Given the description of an element on the screen output the (x, y) to click on. 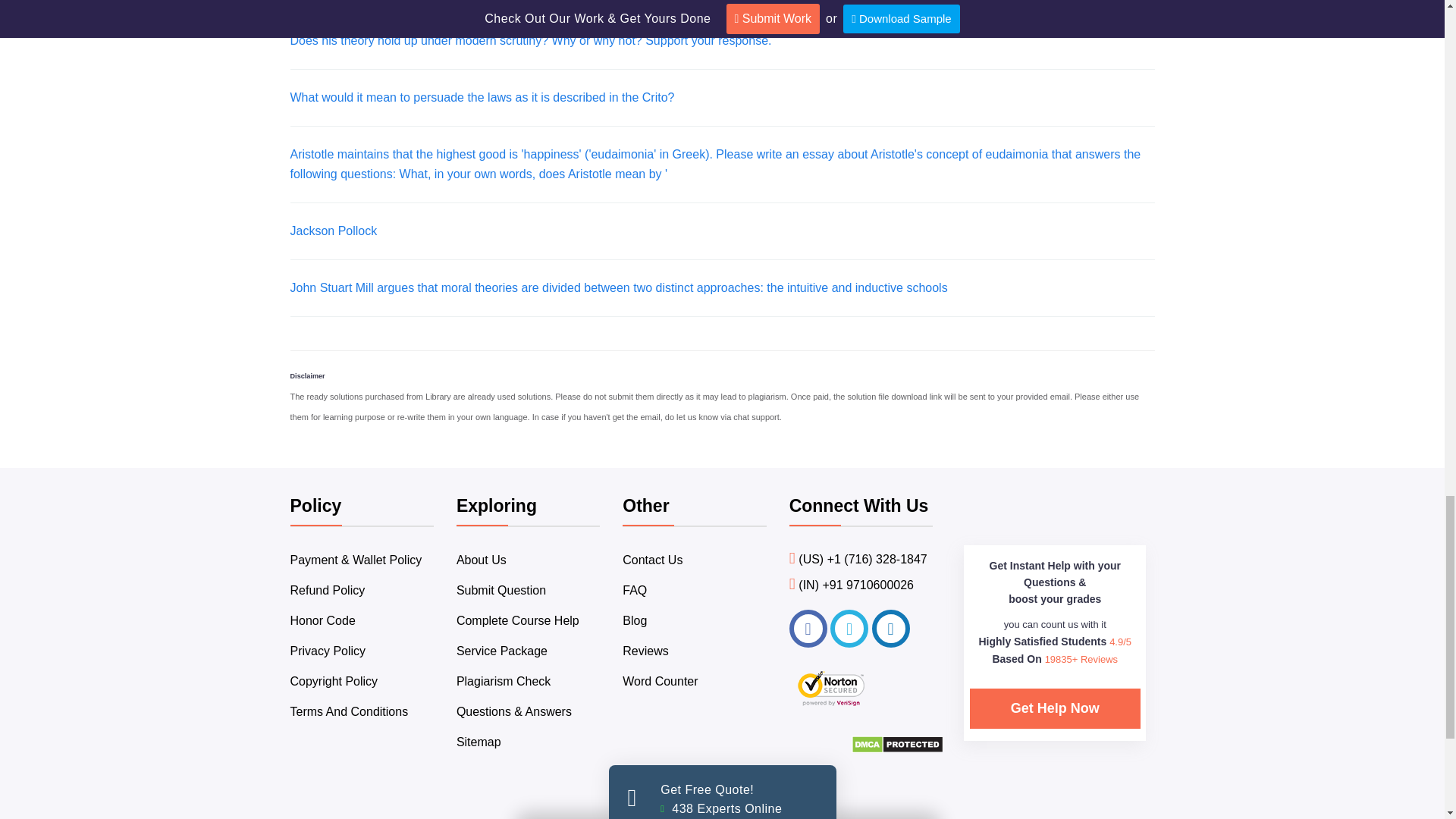
CallTutors DMCA.com Protection Status (897, 748)
Jackson Pollock (333, 230)
Honor Code (322, 620)
Refund Policy (327, 590)
Twitter (848, 628)
Linked In (891, 628)
Facebook (808, 628)
